Given the description of an element on the screen output the (x, y) to click on. 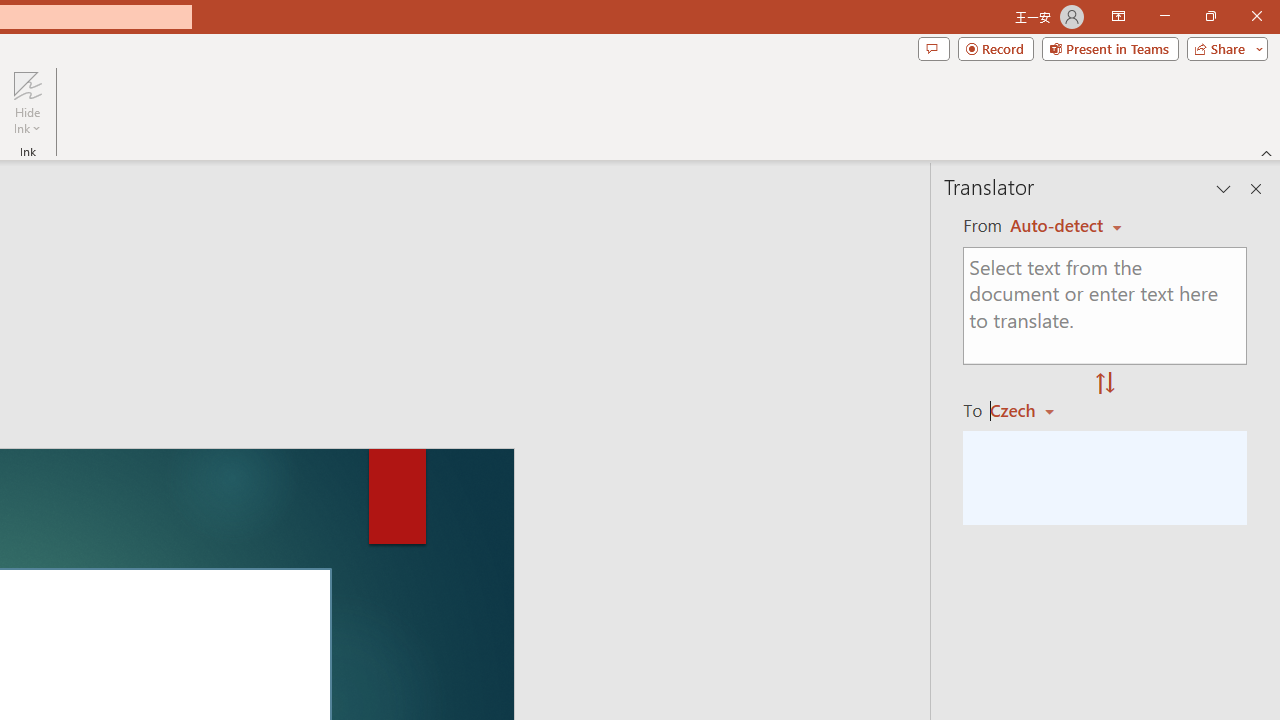
Czech (1030, 409)
